Given the description of an element on the screen output the (x, y) to click on. 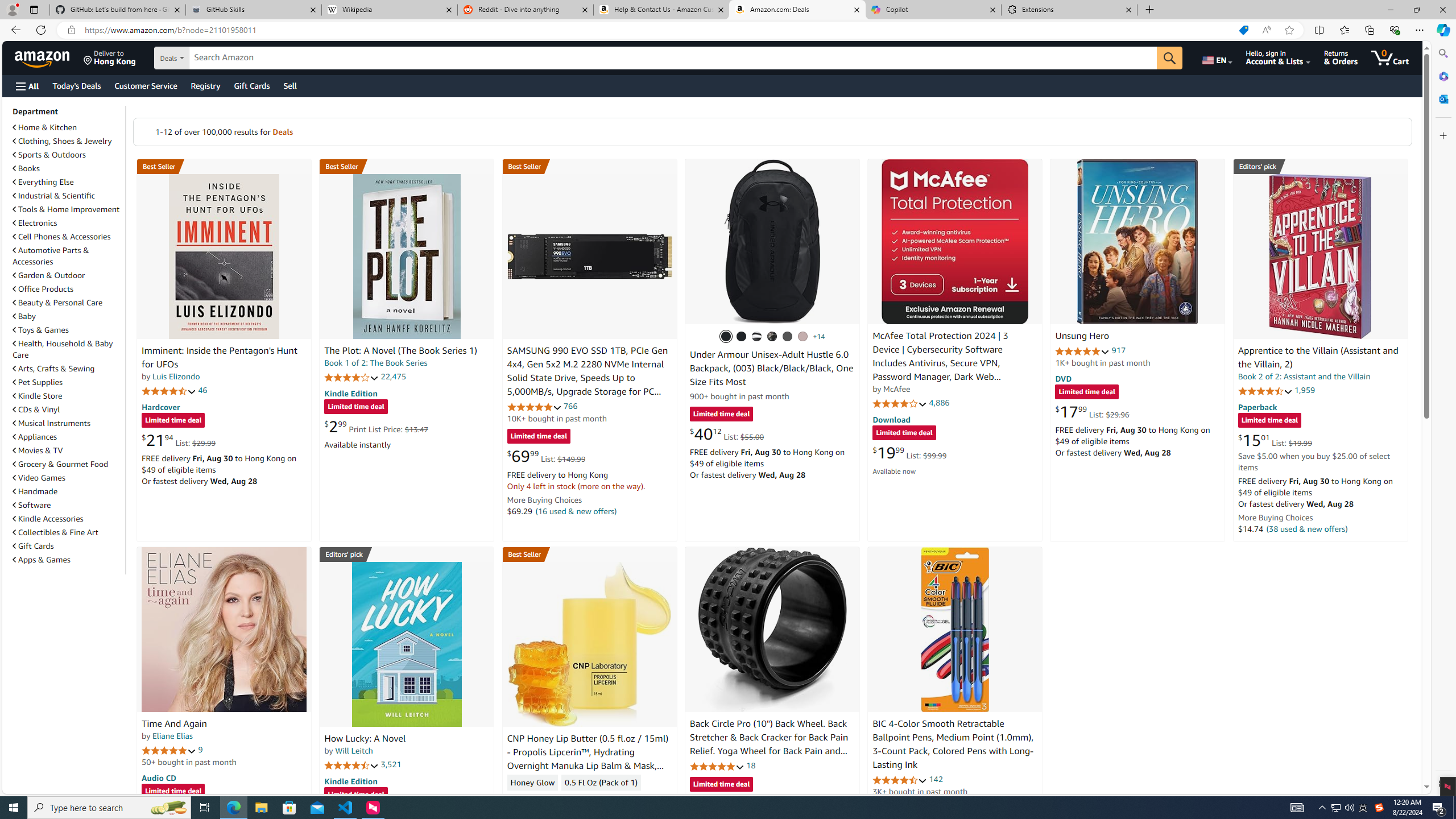
Add this page to favorites (Ctrl+D) (1289, 29)
4.6 out of 5 stars (899, 779)
Time And Again (173, 723)
Copilot (933, 9)
Office Products (43, 289)
Beauty & Personal Care (67, 301)
Download (891, 419)
Gift Cards (33, 545)
Tools & Home Improvement (67, 208)
4.1 out of 5 stars (899, 403)
Movies & TV (67, 450)
Best Seller in Heist Thrillers (406, 165)
(38 used & new offers) (1307, 528)
View site information (70, 29)
$19.99 List: $99.99 (909, 452)
